Given the description of an element on the screen output the (x, y) to click on. 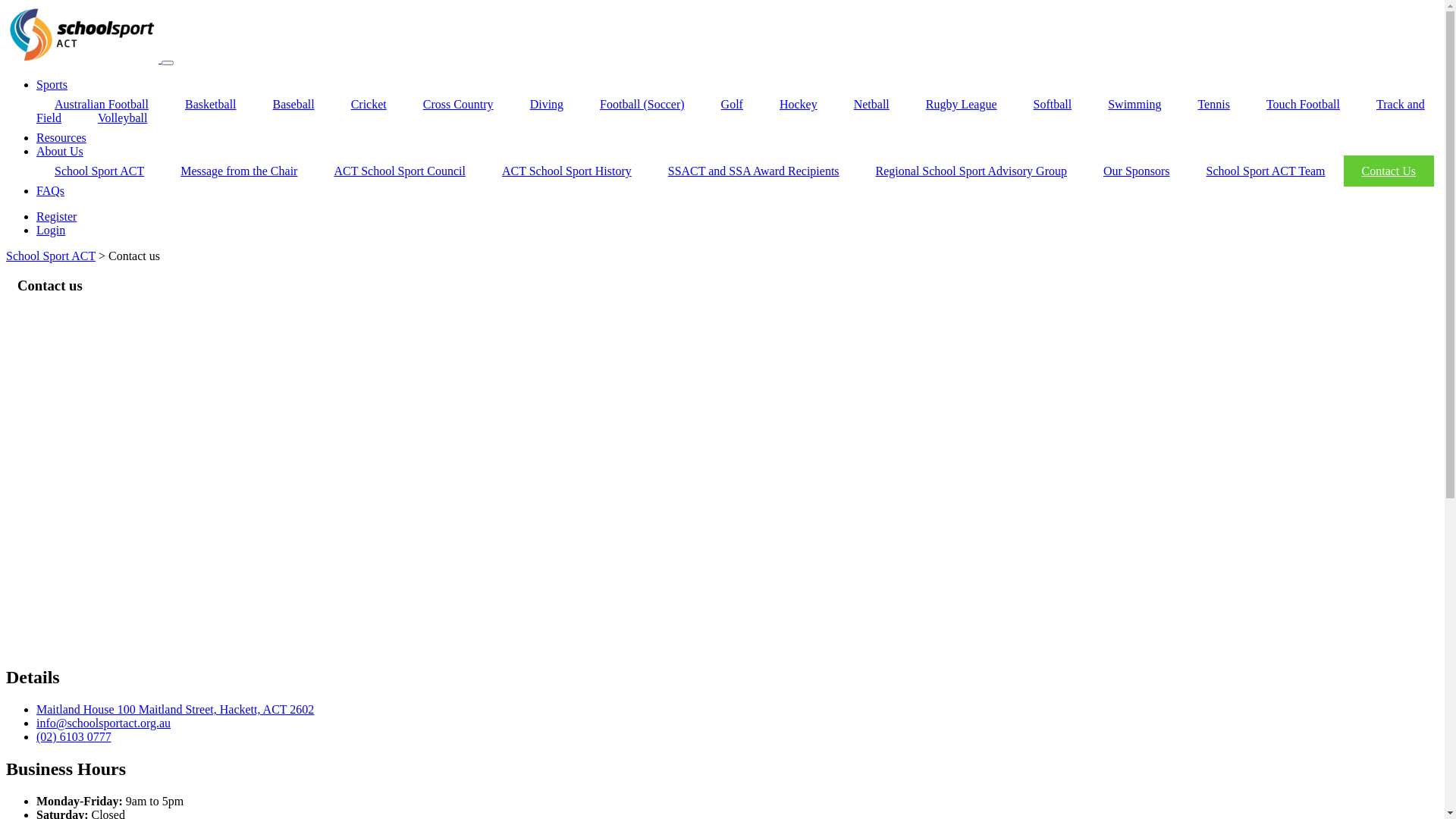
Track and Field Element type: text (730, 110)
School Sport ACT Element type: text (99, 170)
Hockey Element type: text (798, 103)
Volleyball Element type: text (122, 117)
Register Element type: text (56, 216)
Regional School Sport Advisory Group Element type: text (971, 170)
ACT School Sport Council Element type: text (399, 170)
Netball Element type: text (871, 103)
Sports Element type: text (51, 84)
(02) 6103 0777 Element type: text (73, 736)
Tennis Element type: text (1213, 103)
School Sport ACT Element type: text (50, 255)
SSACT and SSA Award Recipients Element type: text (753, 170)
Swimming Element type: text (1134, 103)
Golf Element type: text (731, 103)
Football (Soccer) Element type: text (641, 103)
Our Sponsors Element type: text (1136, 170)
Cricket Element type: text (368, 103)
Diving Element type: text (546, 103)
Resources Element type: text (61, 137)
Touch Football Element type: text (1303, 103)
Baseball Element type: text (293, 103)
ACT School Sport History Element type: text (566, 170)
Basketball Element type: text (210, 103)
Maitland House 100 Maitland Street, Hackett, ACT 2602 Element type: text (174, 708)
About Us Element type: text (59, 150)
Contact Us Element type: text (1388, 170)
Australian Football Element type: text (101, 103)
School Sport ACT Team Element type: text (1265, 170)
Rugby League Element type: text (961, 103)
Login Element type: text (50, 229)
Cross Country Element type: text (457, 103)
Message from the Chair Element type: text (238, 170)
Softball Element type: text (1052, 103)
FAQs Element type: text (50, 190)
info@schoolsportact.org.au Element type: text (103, 722)
